Given the description of an element on the screen output the (x, y) to click on. 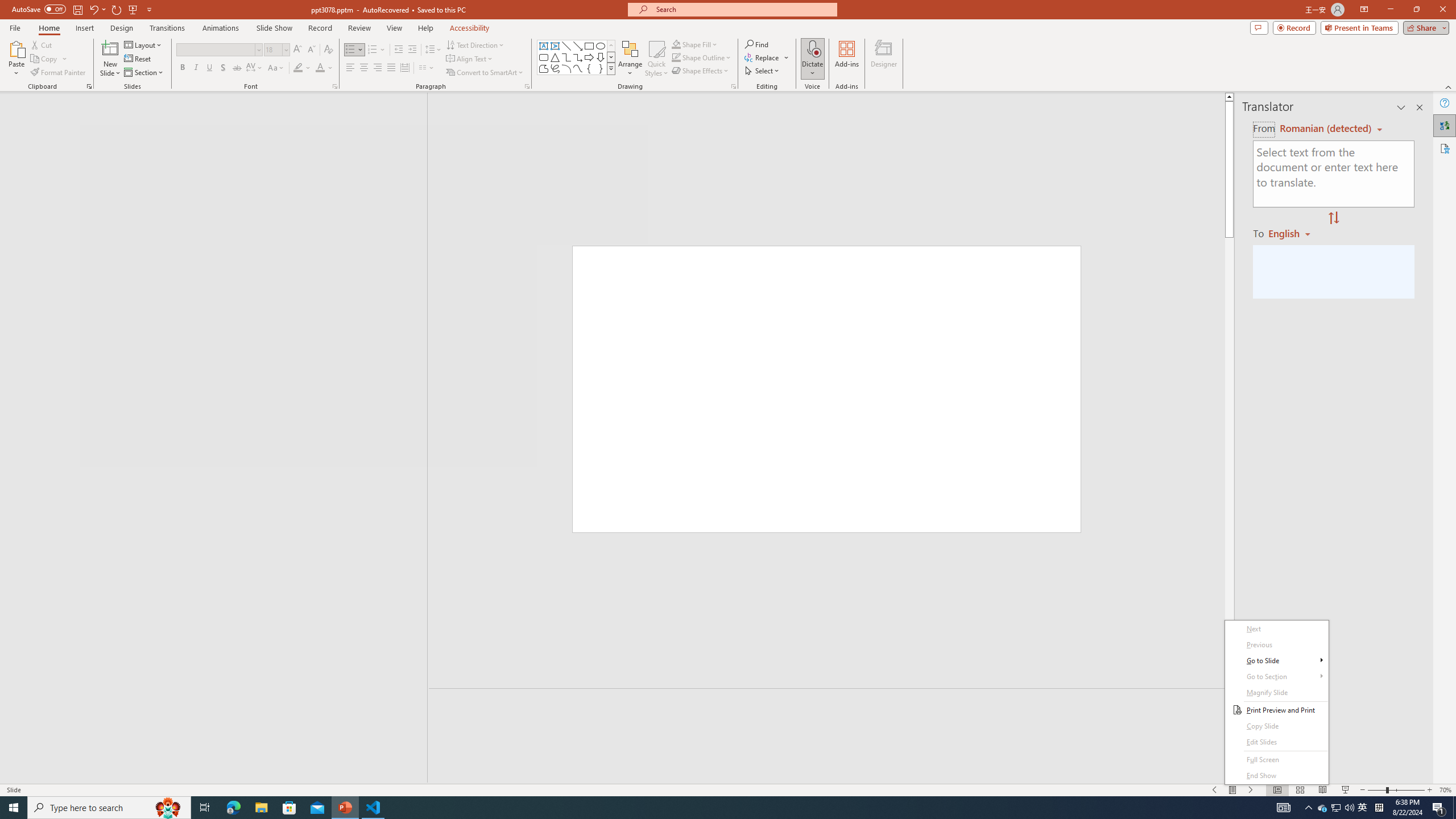
Go to Section (1276, 676)
Go to Slide (1276, 660)
Action Center, 1 new notification (1439, 807)
